Given the description of an element on the screen output the (x, y) to click on. 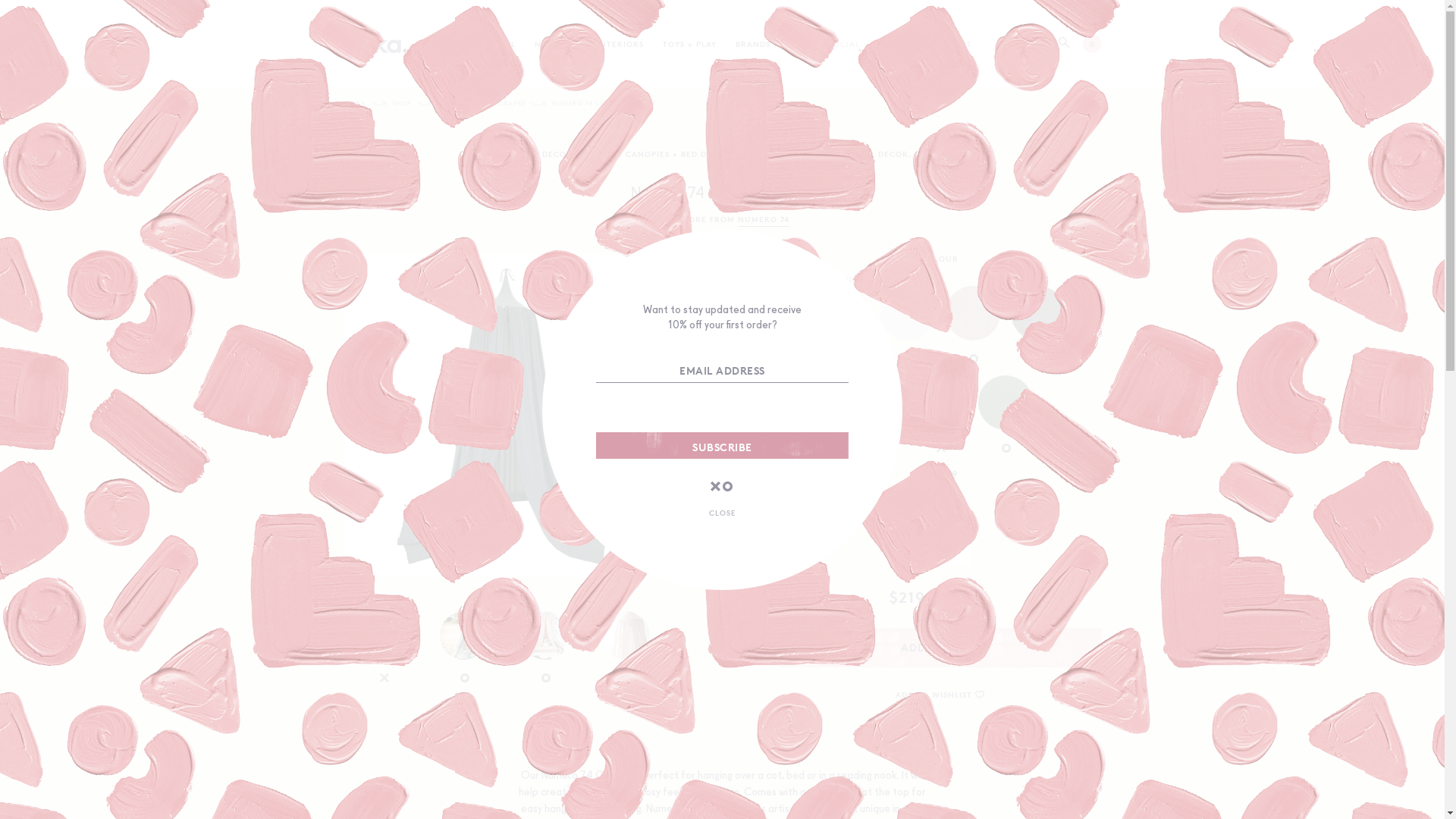
Search Milka Element type: hover (1064, 43)
SIGN IN Element type: text (895, 42)
Numero 74 Cotton Canopy - Milka Element type: hover (374, 43)
SHOP Element type: text (401, 102)
CLOSE Element type: text (721, 512)
PRETEND PLAY Element type: text (947, 153)
Select Natural SS Element type: hover (841, 312)
BABY + NURSERY Element type: text (807, 153)
NEW Element type: text (544, 42)
Select Powder Pink SS Element type: hover (971, 312)
TOYS + PLAY Element type: text (689, 42)
BEDDING Element type: text (598, 153)
SALE Element type: text (799, 42)
Select Silver Grey SS Element type: hover (1037, 312)
0 Element type: text (1091, 43)
NUMERO 74 Element type: text (763, 218)
Select Sage SS Element type: hover (1005, 402)
WALL DECOR Element type: text (879, 153)
BRANDS Element type: text (752, 42)
Select Ice Blue SS Element type: hover (940, 402)
KIDS INTERIORS Element type: text (500, 153)
Select Gold SS Element type: hover (874, 402)
DECOR Element type: text (557, 153)
CANOPIES + BED DRAPES Element type: text (481, 102)
Subscribe Element type: text (722, 445)
MILKA Element type: text (353, 102)
WISHLIST Element type: text (951, 42)
ADD TO CART Element type: text (939, 647)
SOCIAL Element type: text (843, 42)
KIDS INTERIORS Element type: text (608, 42)
CANOPIES + BED DRAPES Element type: text (679, 153)
ADD TO WISHLIST Element type: text (939, 694)
SHOP ALL Element type: text (494, 42)
Select White SS Element type: hover (906, 312)
GIFTS Element type: text (752, 153)
